Given the description of an element on the screen output the (x, y) to click on. 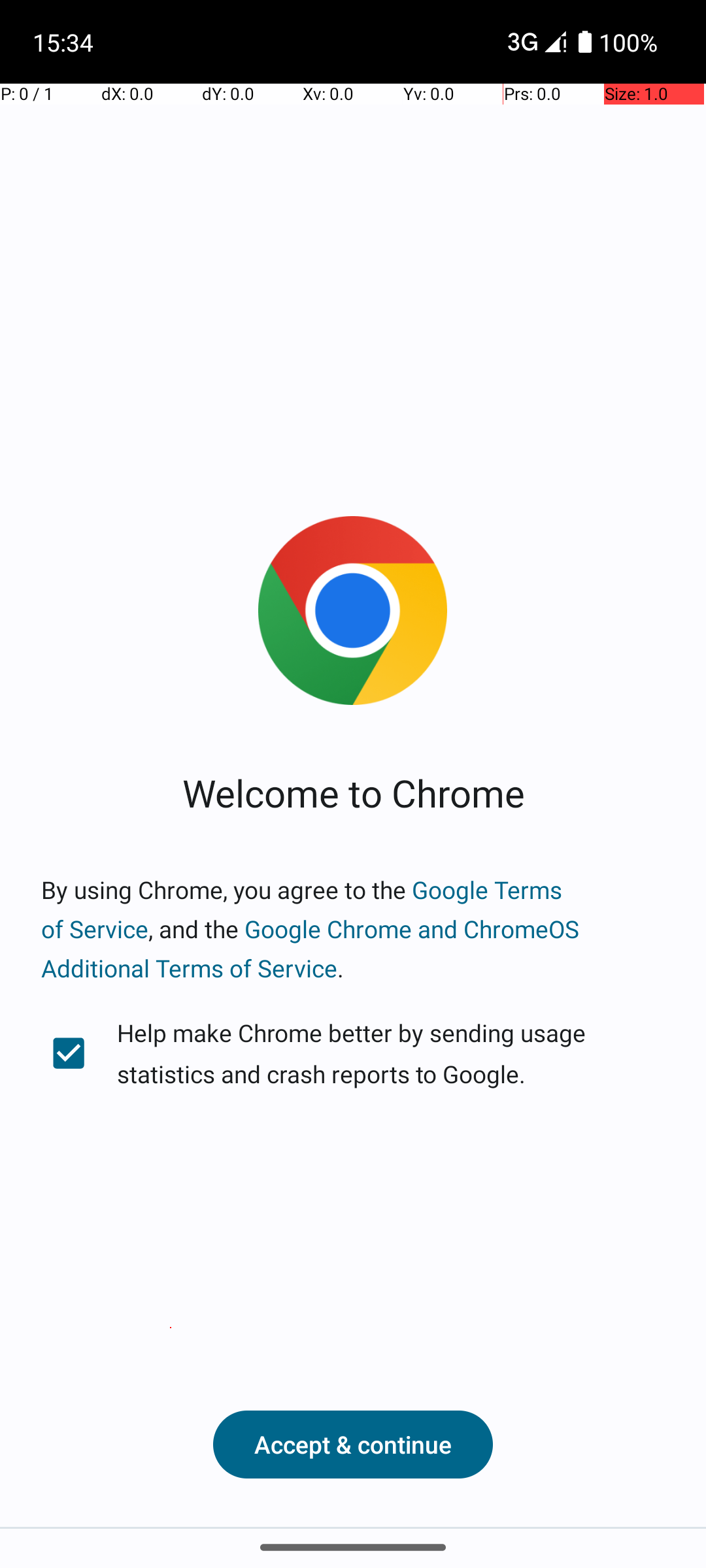
Accept & continue Element type: android.widget.Button (352, 1444)
Welcome to Chrome Element type: android.widget.TextView (352, 792)
By using Chrome, you agree to the Google Terms of Service, and the Google Chrome and ChromeOS Additional Terms of Service. Element type: android.widget.TextView (352, 928)
Help make Chrome better by sending usage statistics and crash reports to Google. Element type: android.widget.CheckBox (352, 1053)
